Given the description of an element on the screen output the (x, y) to click on. 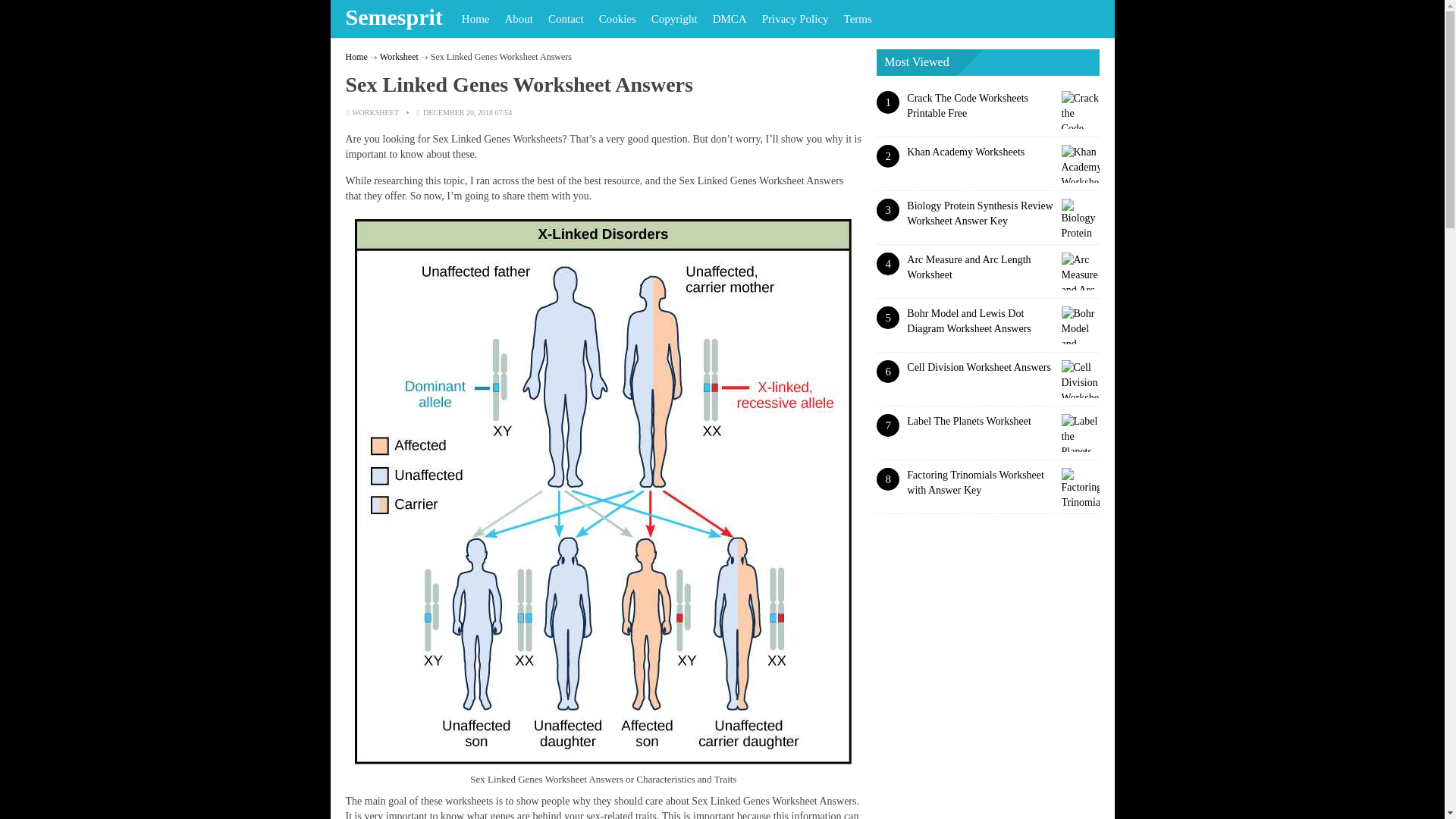
Khan Academy Worksheets (966, 152)
About (518, 18)
Cookies (617, 18)
Home (357, 56)
Worksheet (399, 56)
Crack The Code Worksheets Printable Free (967, 105)
Privacy Policy (794, 18)
Arc Measure and Arc Length Worksheet (968, 266)
Biology Protein Synthesis Review Worksheet Answer Key (979, 212)
Crack The Code Worksheets Printable Free (967, 105)
DMCA (729, 18)
Copyright (673, 18)
Khan Academy Worksheets (966, 152)
